Given the description of an element on the screen output the (x, y) to click on. 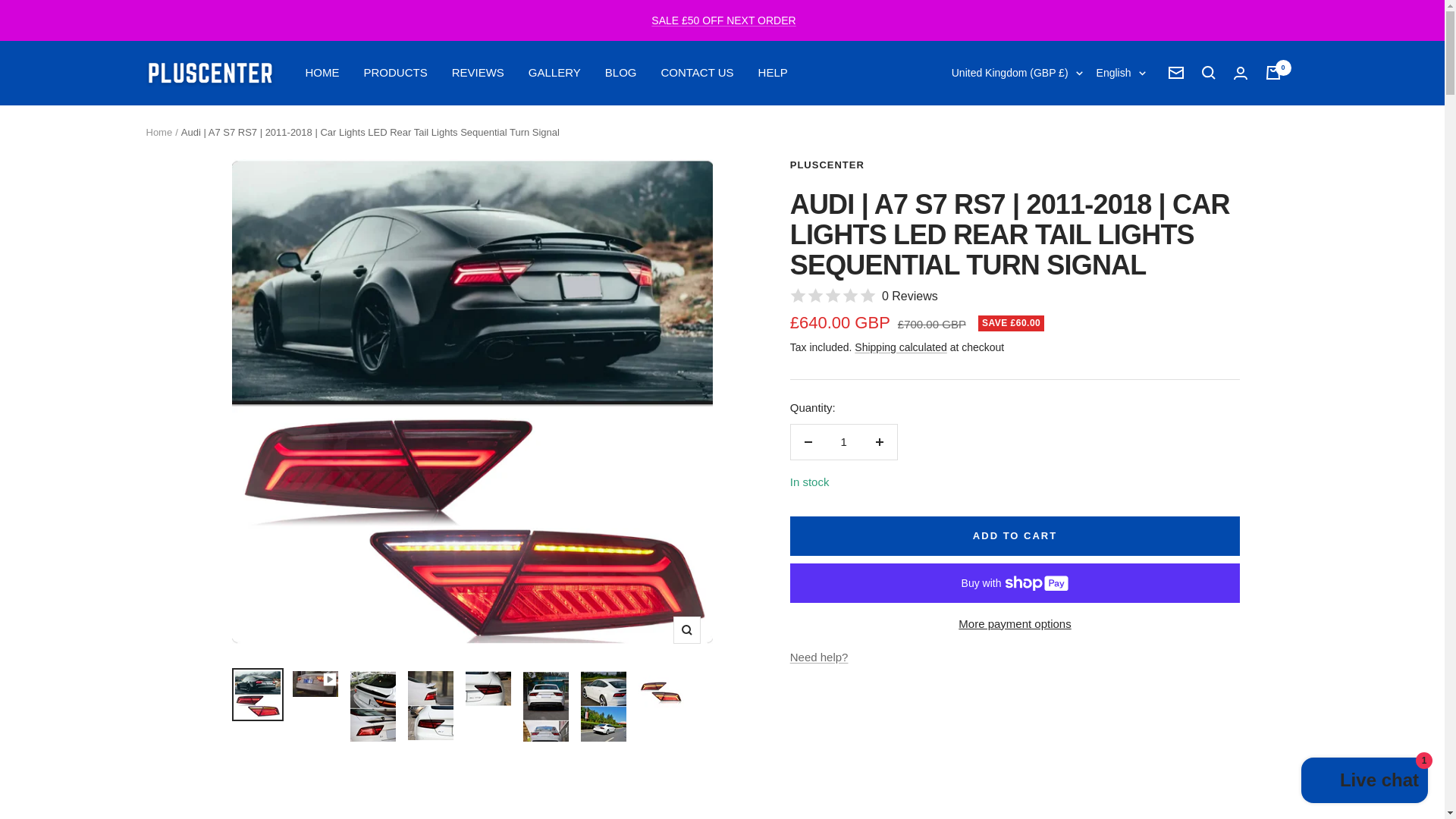
HELP (772, 72)
PRODUCTS (396, 72)
BO (932, 750)
AZ (932, 475)
AC (932, 400)
HOME (321, 72)
BJ (932, 675)
REVIEWS (477, 72)
BD (932, 550)
BH (932, 525)
AF (932, 125)
AD (932, 225)
AX (932, 149)
BE (932, 625)
AI (932, 275)
